Given the description of an element on the screen output the (x, y) to click on. 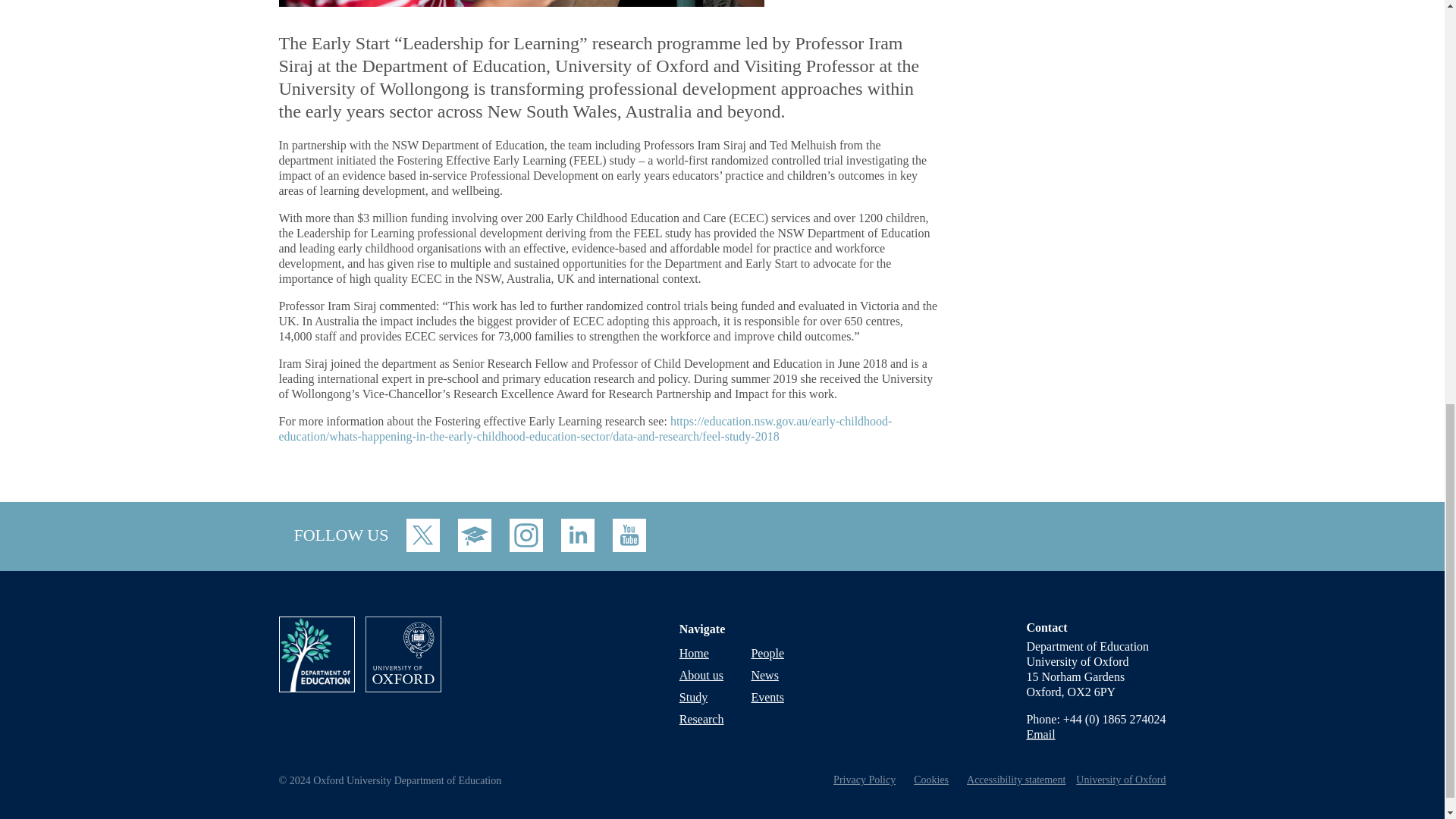
Oxford University Department of Education Home Page (322, 687)
